Given the description of an element on the screen output the (x, y) to click on. 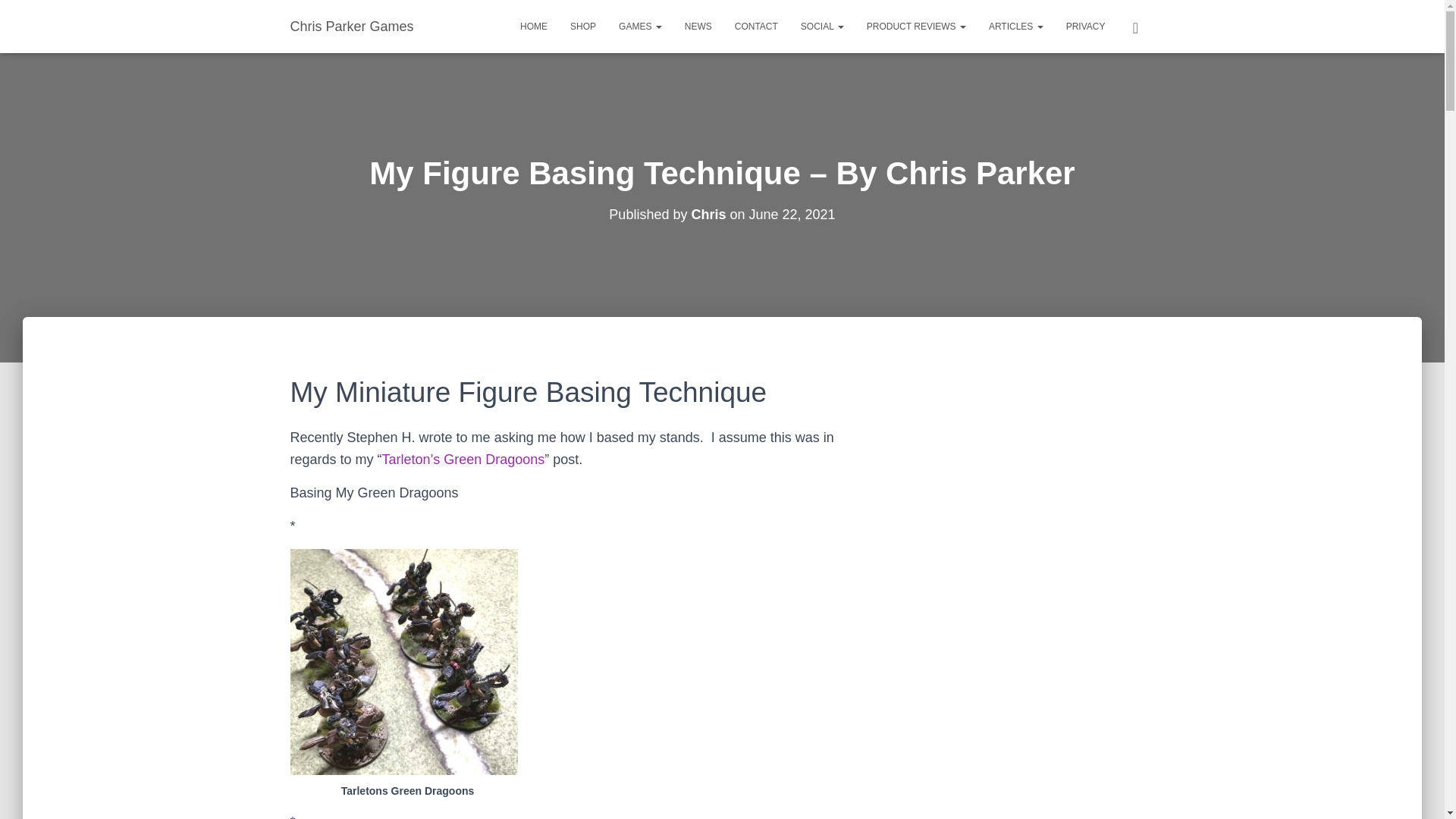
HOME (533, 26)
Shop (583, 26)
Contact (756, 26)
Chris Parker Games (352, 26)
Chris (707, 214)
ARTICLES (1015, 26)
CONTACT (756, 26)
Games (639, 26)
News (697, 26)
Chris Parker Games (352, 26)
